Given the description of an element on the screen output the (x, y) to click on. 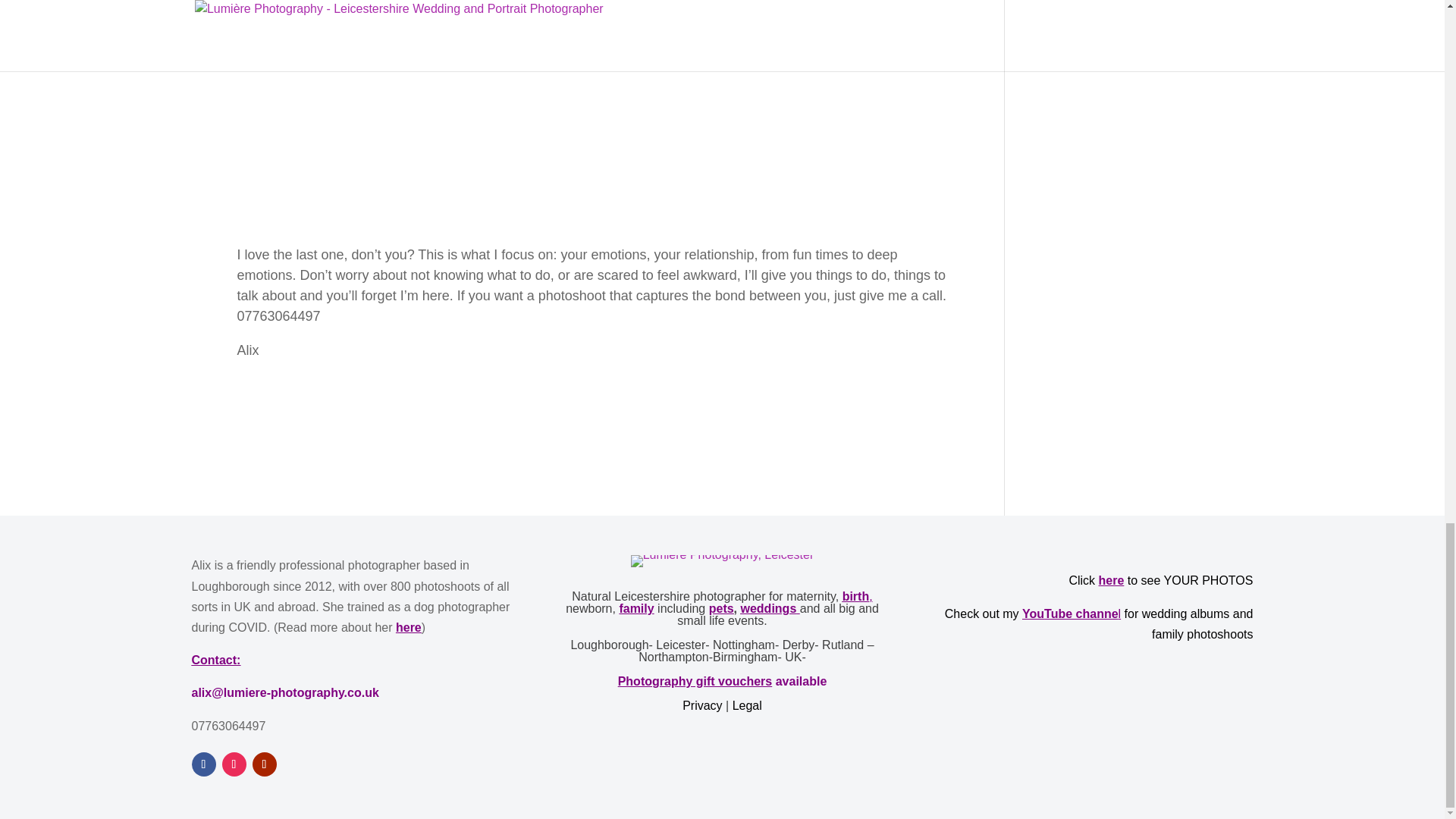
birth (856, 595)
Follow on Youtube (263, 764)
Lumiere Photography Logo (721, 561)
Follow on Facebook (202, 764)
here (409, 626)
pets (721, 608)
YouTube channel (1071, 613)
Photography gift vouchers available (722, 680)
Legal (746, 705)
Click here to see YOUR PHOTOS (1160, 580)
